Given the description of an element on the screen output the (x, y) to click on. 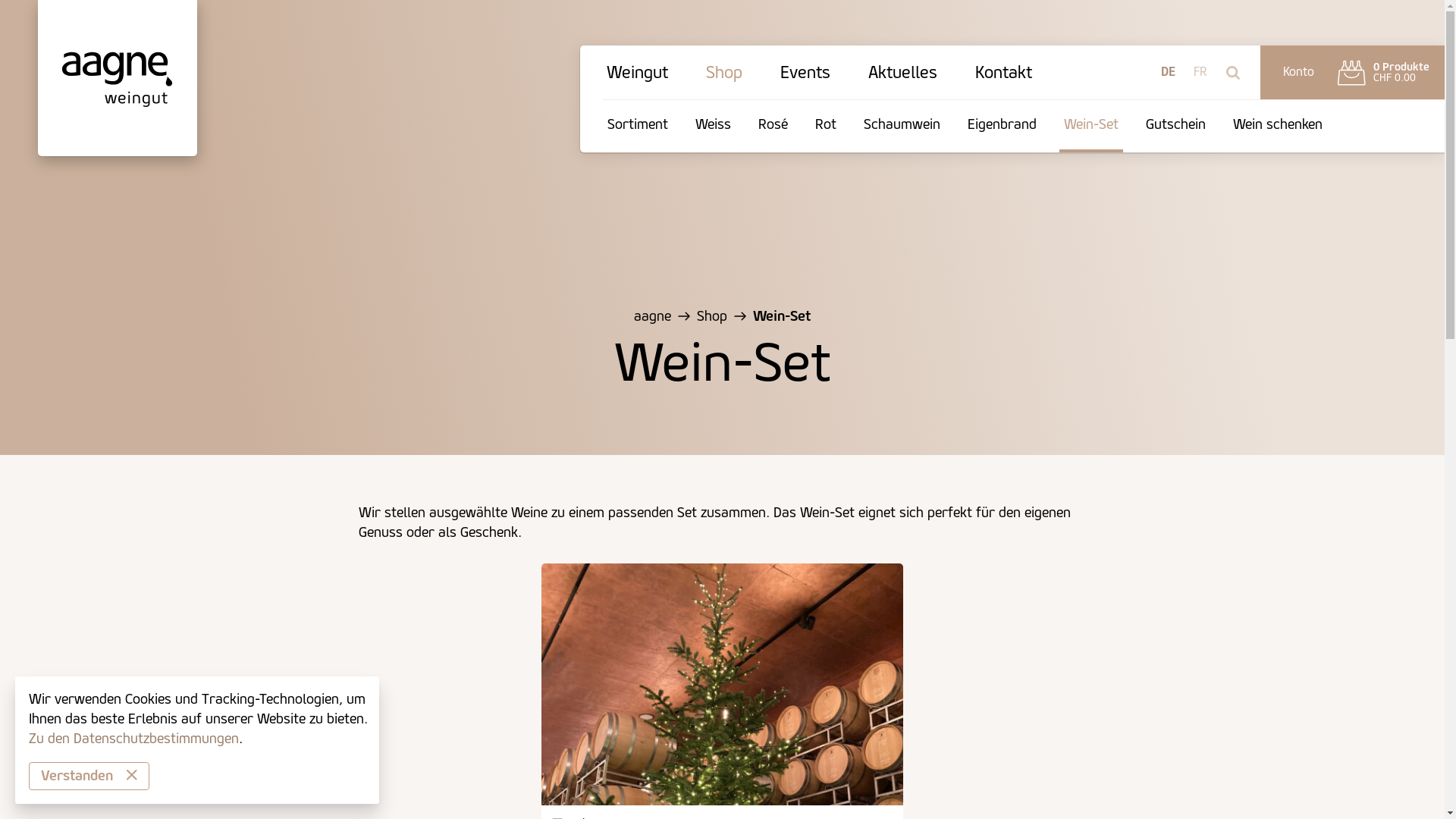
DE Element type: text (1167, 72)
Shop Element type: text (724, 77)
FR Element type: text (1200, 72)
Kontakt Element type: text (1003, 77)
aagne Element type: text (652, 316)
Sortiment Element type: text (637, 126)
Verstanden
Schliessen Element type: text (88, 776)
Wein-Set Element type: text (1091, 126)
0 Produkte
CHF 0.00 Element type: text (1382, 72)
Weiss Element type: text (712, 126)
Shop Element type: text (711, 316)
Rot Element type: text (825, 126)
Events Element type: text (805, 77)
Eigenbrand Element type: text (1002, 126)
Schaumwein Element type: text (901, 126)
Weingut Element type: text (636, 77)
Wein schenken Element type: text (1277, 126)
Konto Element type: text (1298, 72)
Aktuelles Element type: text (902, 77)
Gutschein Element type: text (1175, 126)
